Given the description of an element on the screen output the (x, y) to click on. 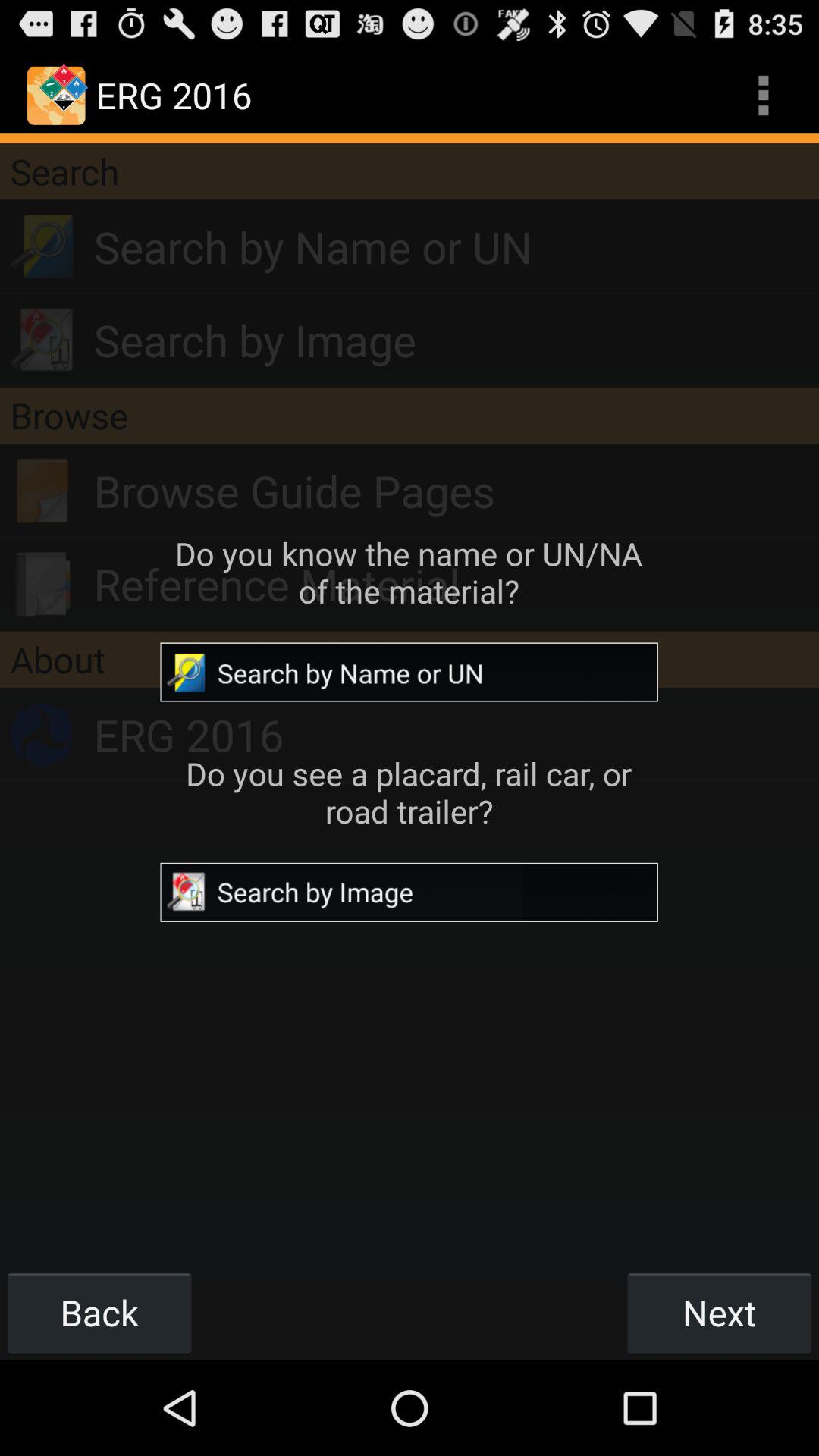
open item at the top right corner (763, 95)
